Given the description of an element on the screen output the (x, y) to click on. 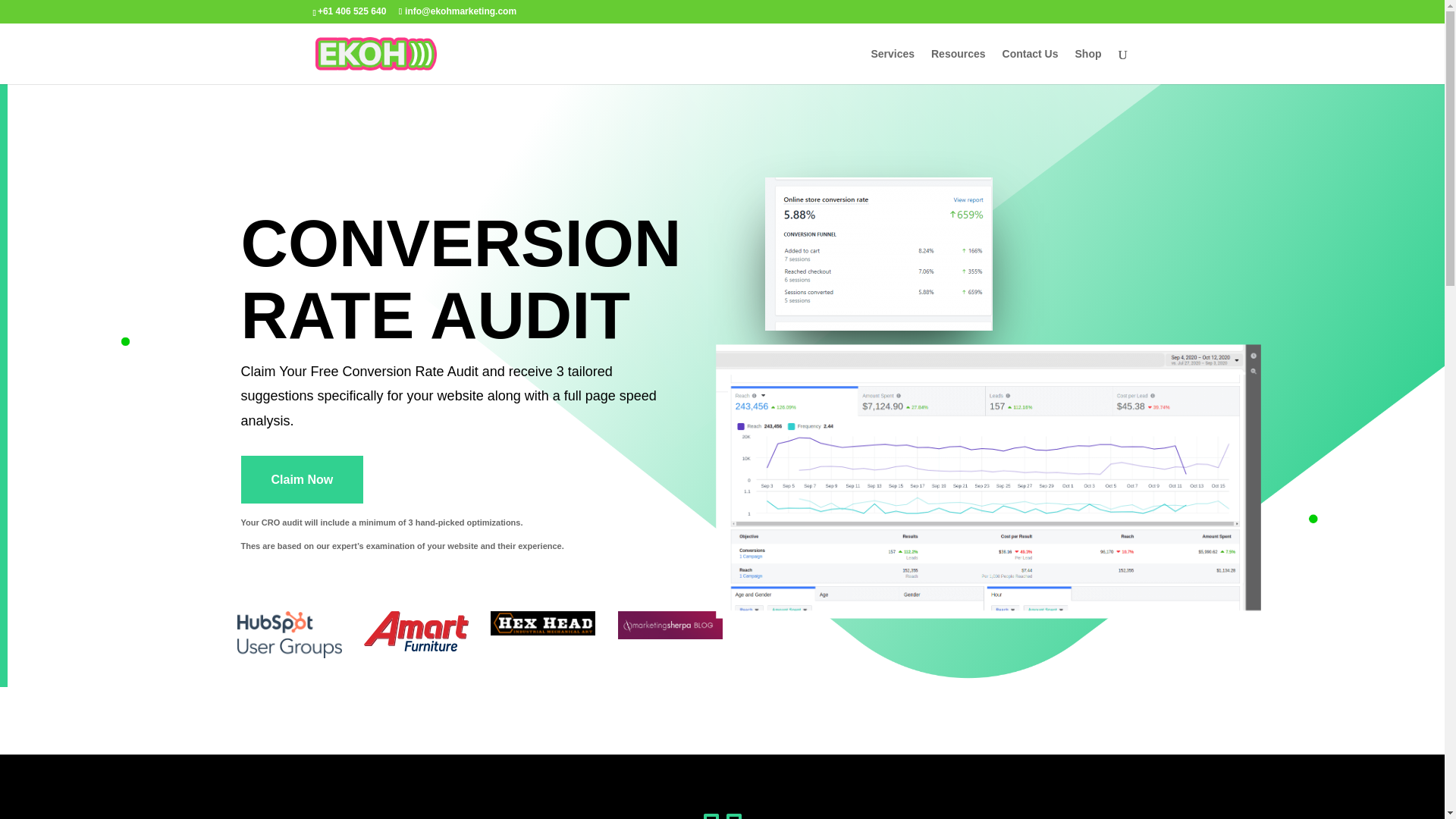
Shop (1088, 66)
7k lead account (938, 456)
Services (892, 66)
Resources (958, 66)
marketing-sherpaleft-logo-BR-2 (669, 624)
amart furnature (416, 630)
Claim Now (302, 479)
hexhead (542, 622)
Contact Us (1030, 66)
ba3.usergroups-web-color-leftaligned (287, 634)
